Given the description of an element on the screen output the (x, y) to click on. 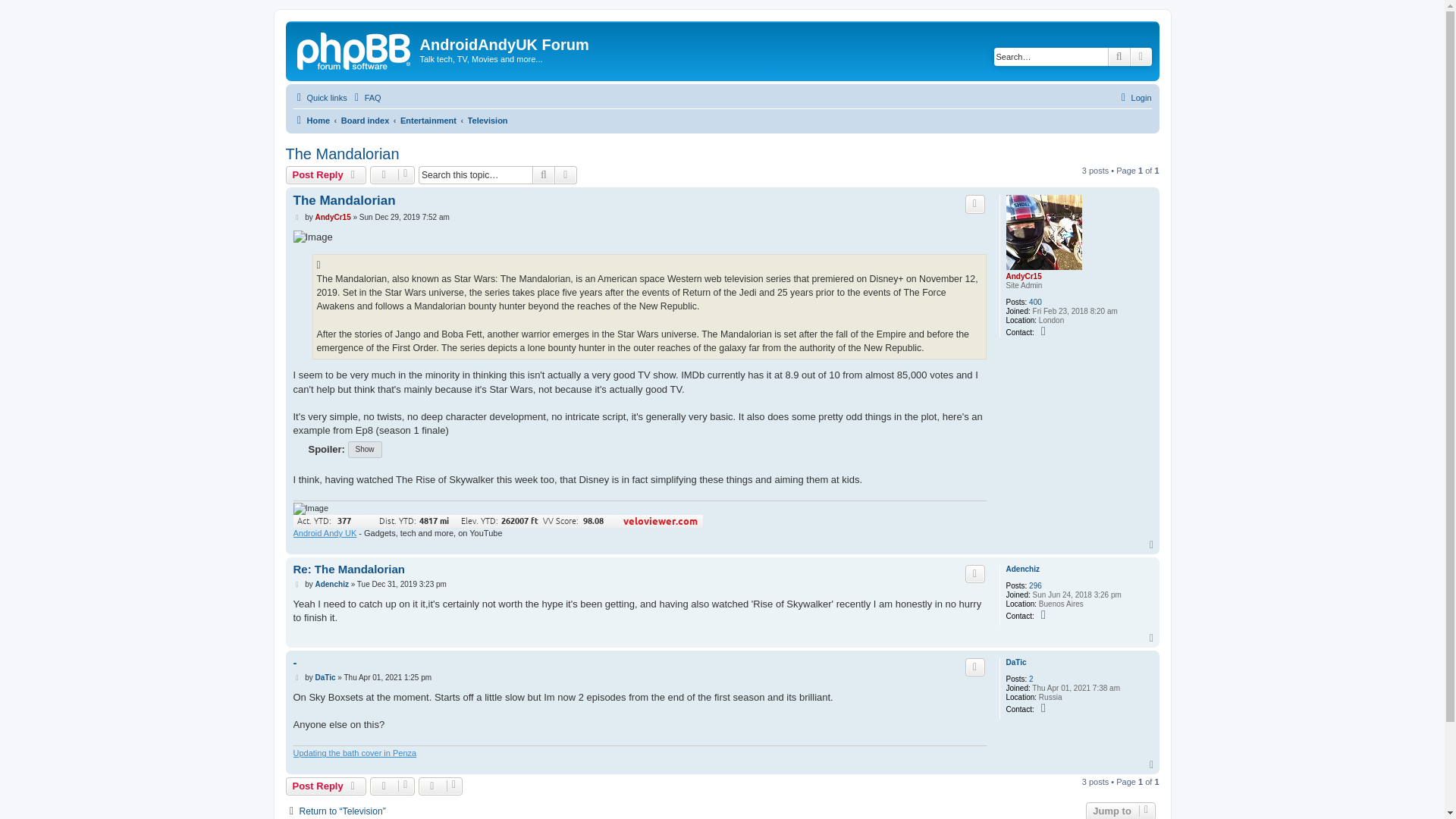
The Mandalorian (343, 200)
Re: The Mandalorian (348, 569)
Search (1119, 56)
Board index (365, 120)
Home (311, 120)
296 (1035, 585)
Contact Adenchiz (1044, 614)
Show (364, 449)
Advanced search (565, 175)
Entertainment (428, 120)
